Given the description of an element on the screen output the (x, y) to click on. 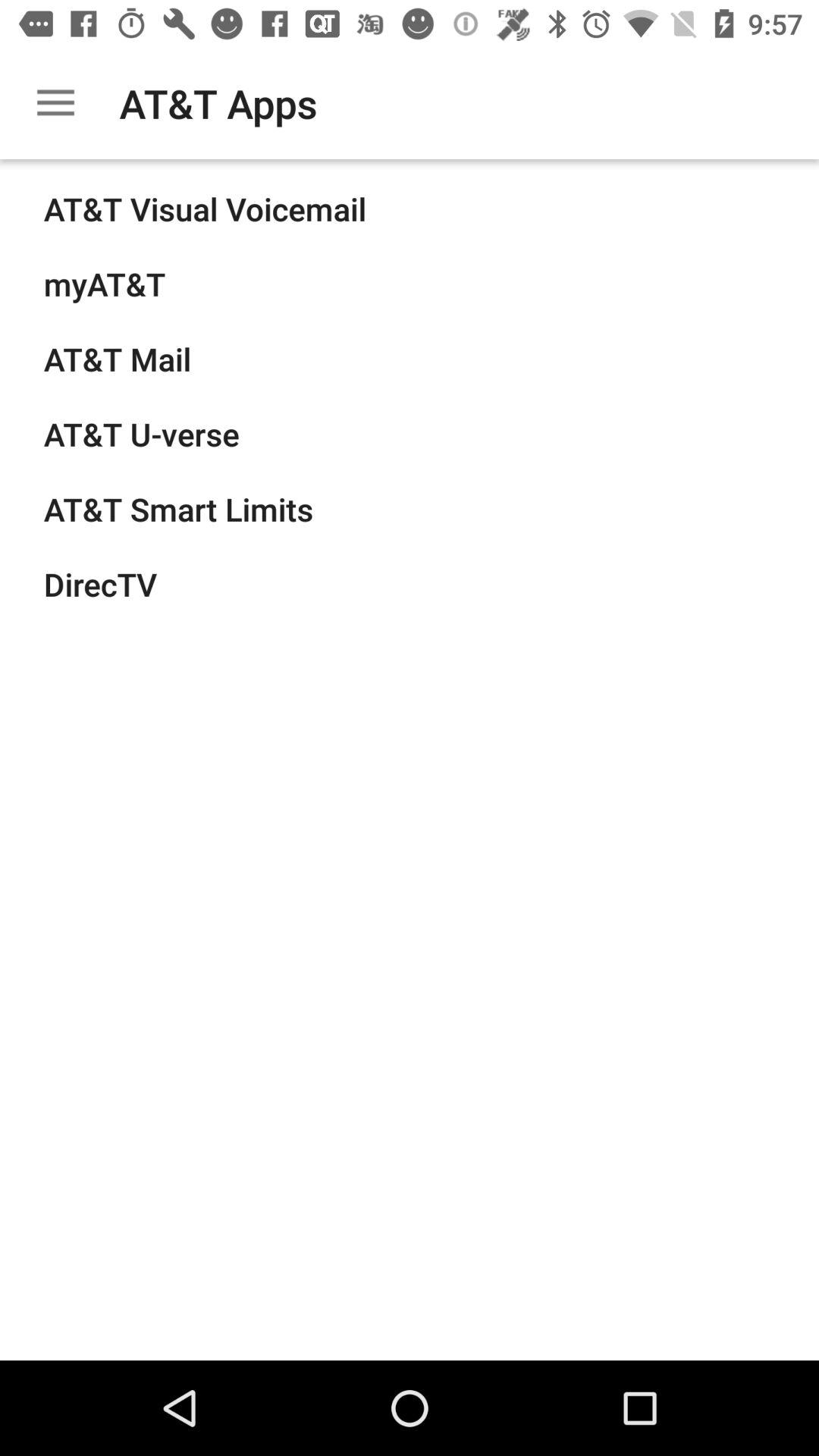
jump to the directv (99, 583)
